Given the description of an element on the screen output the (x, y) to click on. 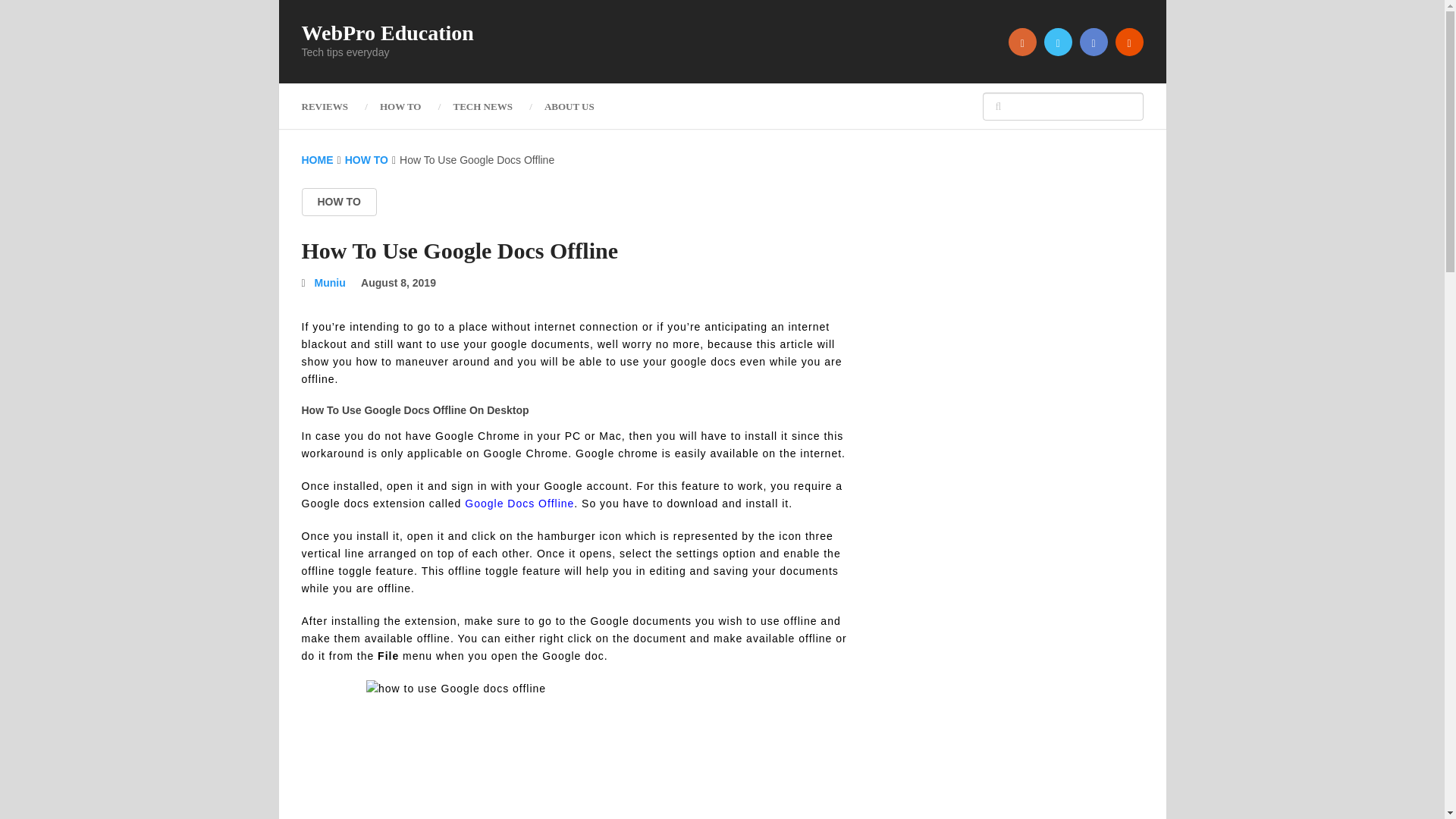
REVIEWS (332, 105)
TECH NEWS (481, 105)
Posts by Muniu (330, 282)
WebPro Education (387, 33)
HOW TO (401, 105)
Muniu (330, 282)
HOW TO (366, 159)
View all posts in how to (339, 202)
Google Docs Offline (518, 503)
HOME (317, 159)
HOW TO (339, 202)
ABOUT US (569, 105)
